Given the description of an element on the screen output the (x, y) to click on. 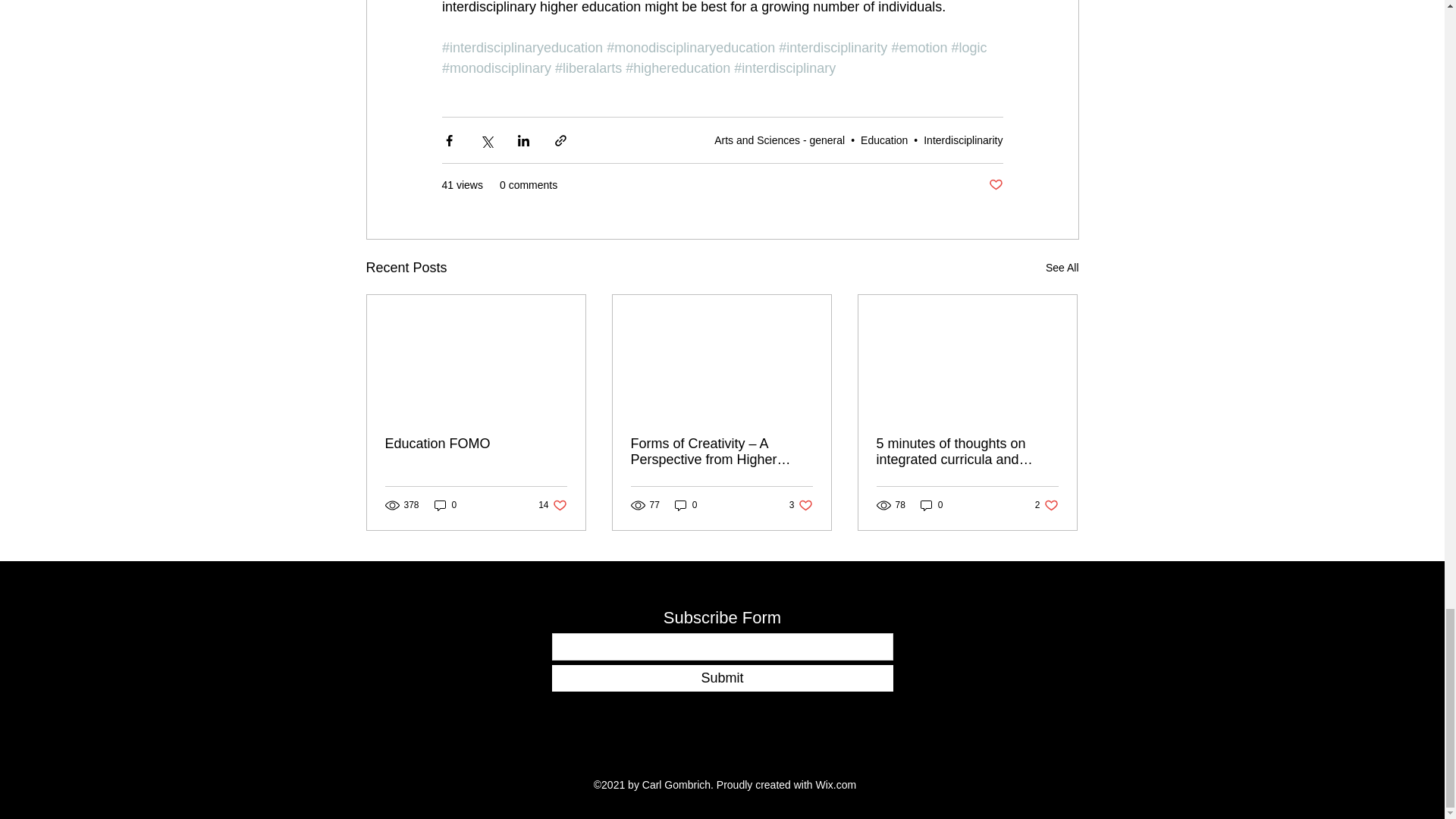
Post not marked as liked (995, 185)
Interdisciplinarity (963, 140)
Education (883, 140)
See All (1061, 268)
Arts and Sciences - general (779, 140)
0 (445, 504)
Education FOMO (476, 443)
